Given the description of an element on the screen output the (x, y) to click on. 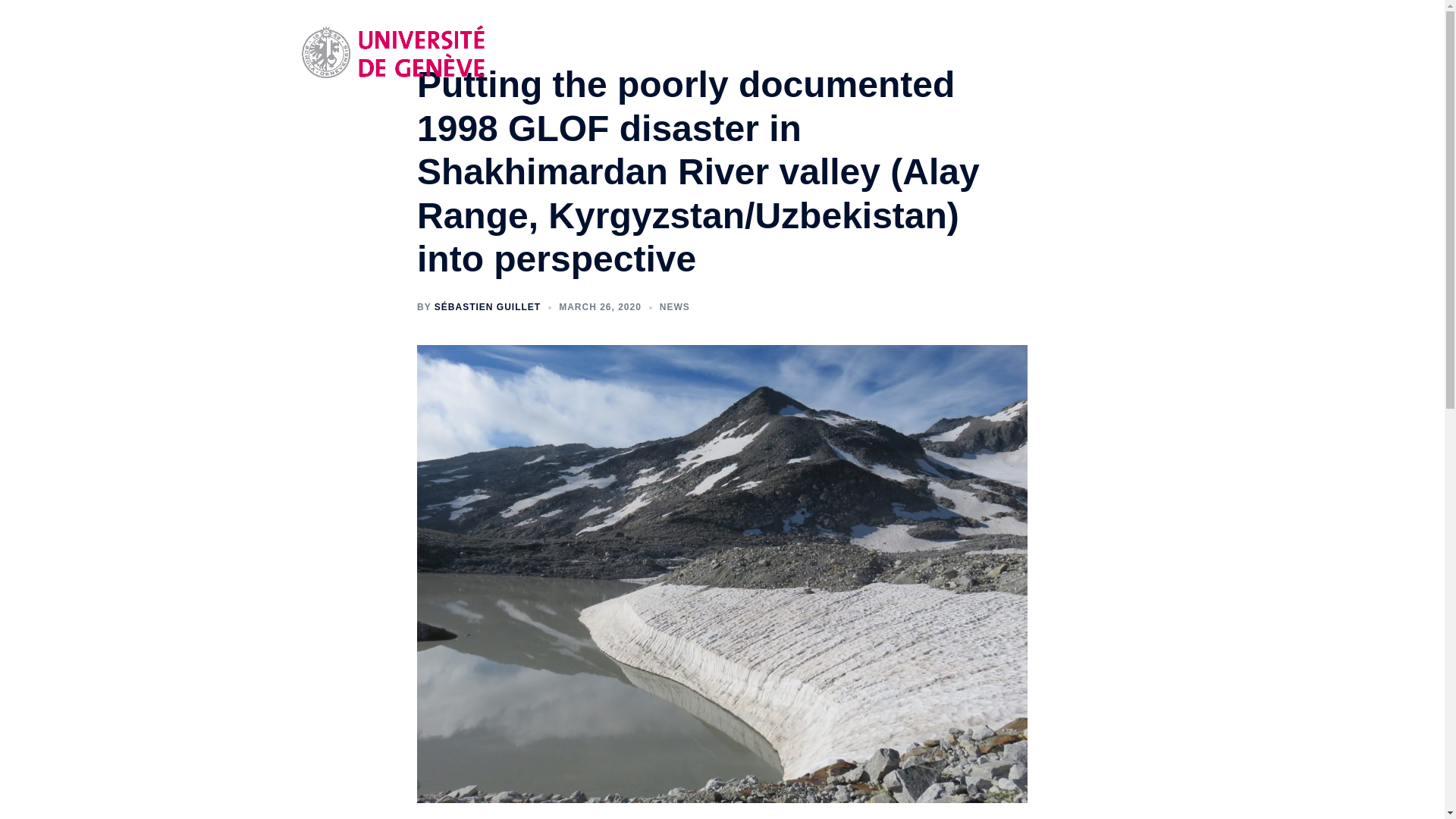
Projects (914, 53)
Our team (851, 53)
MARCH 26, 2020 (600, 307)
Publications (983, 53)
NEWS (674, 307)
News (794, 53)
Home (746, 53)
Workshops (1059, 53)
Contact (1124, 53)
